Given the description of an element on the screen output the (x, y) to click on. 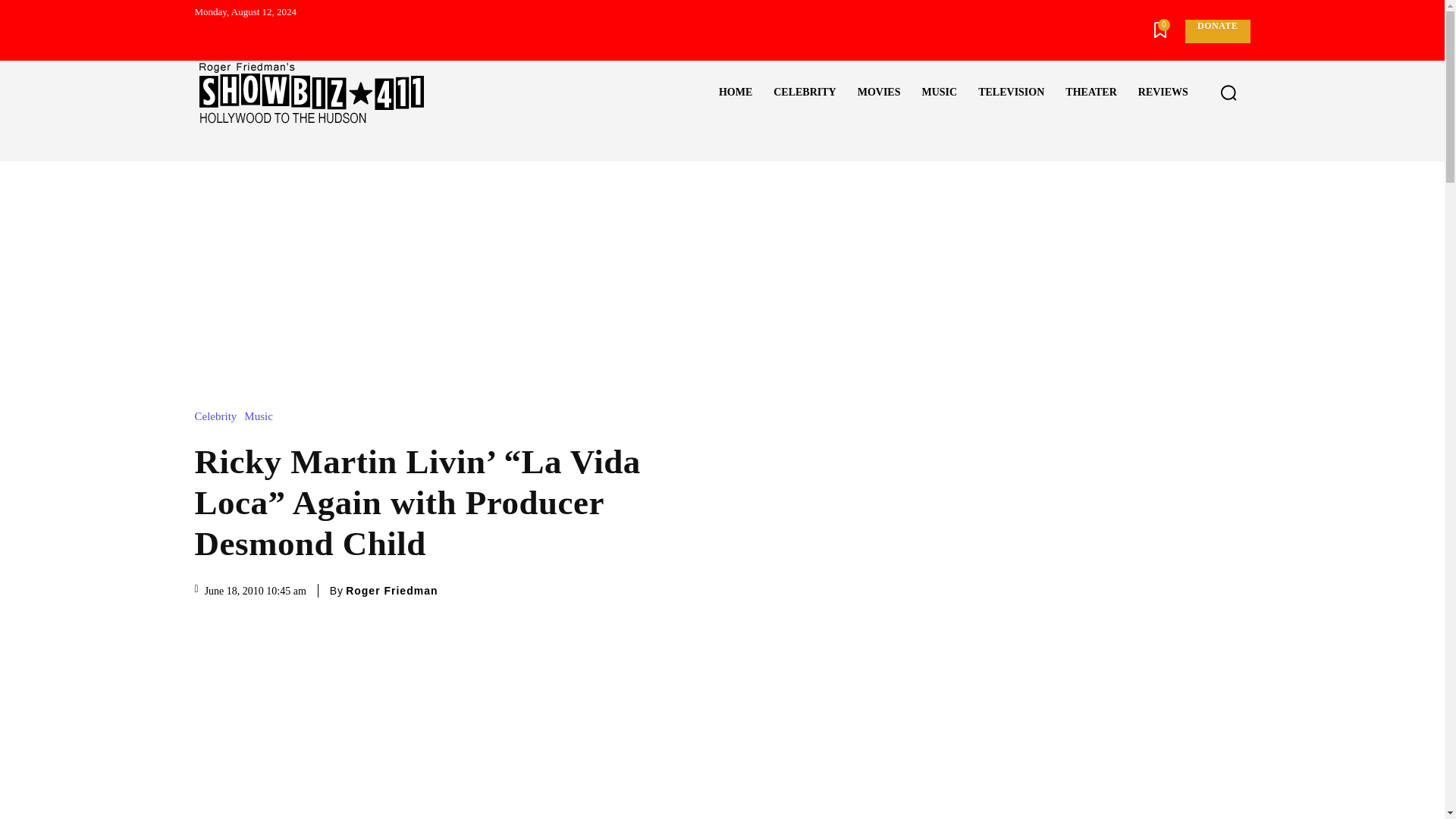
MUSIC (939, 92)
THEATER (1090, 92)
MOVIES (879, 92)
TELEVISION (1011, 92)
DONATE (1217, 31)
Donate (1217, 31)
Celebrity (218, 416)
CELEBRITY (803, 92)
HOME (734, 92)
REVIEWS (1162, 92)
